Given the description of an element on the screen output the (x, y) to click on. 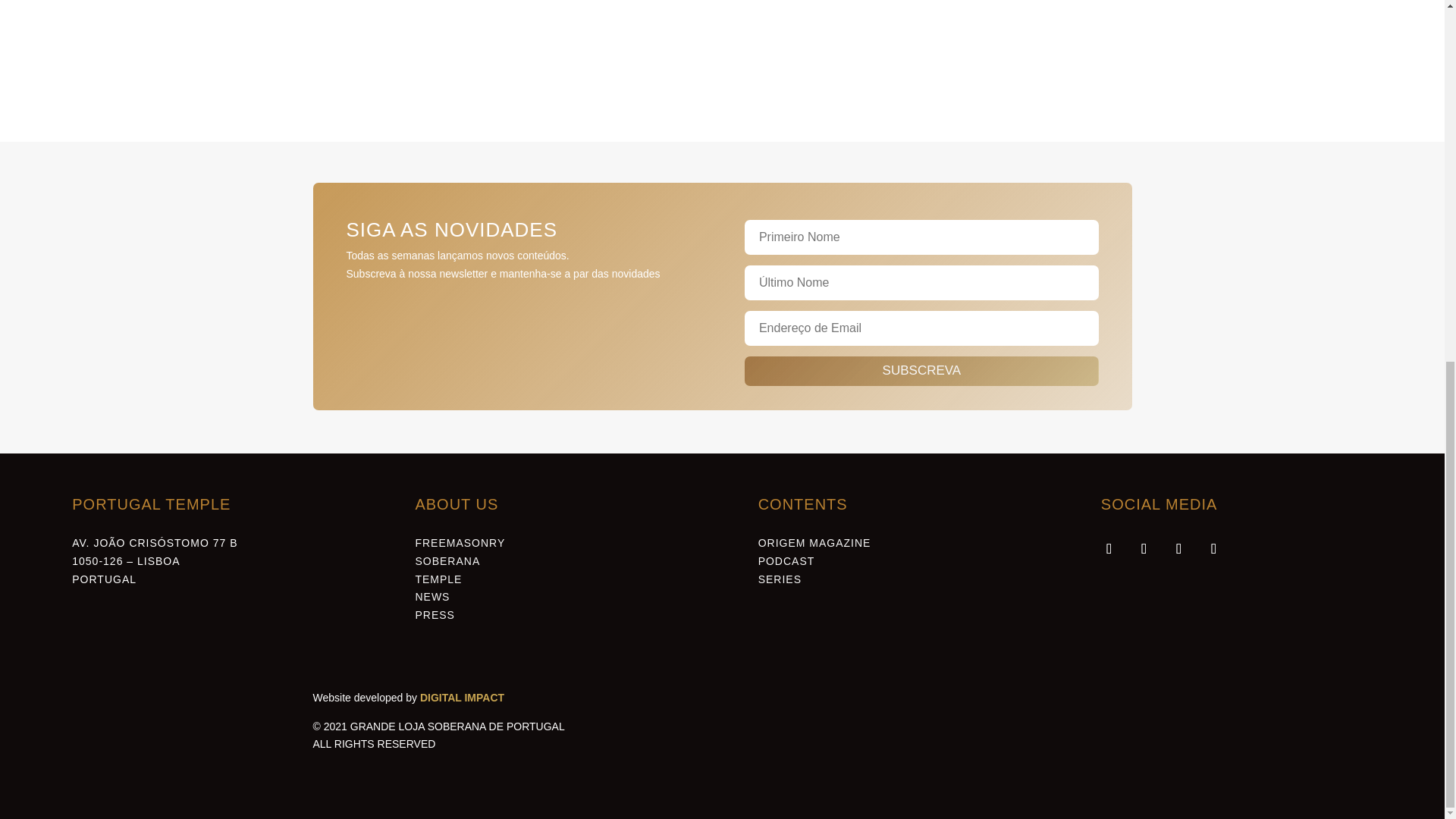
NEWS (431, 596)
SUBSCREVA (920, 370)
Follow on Facebook (1109, 548)
Follow on LinkedIn (1143, 548)
TEMPLE (437, 578)
Follow on Instagram (1178, 548)
FREEMASONRY (459, 542)
Follow on Youtube (1213, 548)
SOBERANA (447, 561)
